Given the description of an element on the screen output the (x, y) to click on. 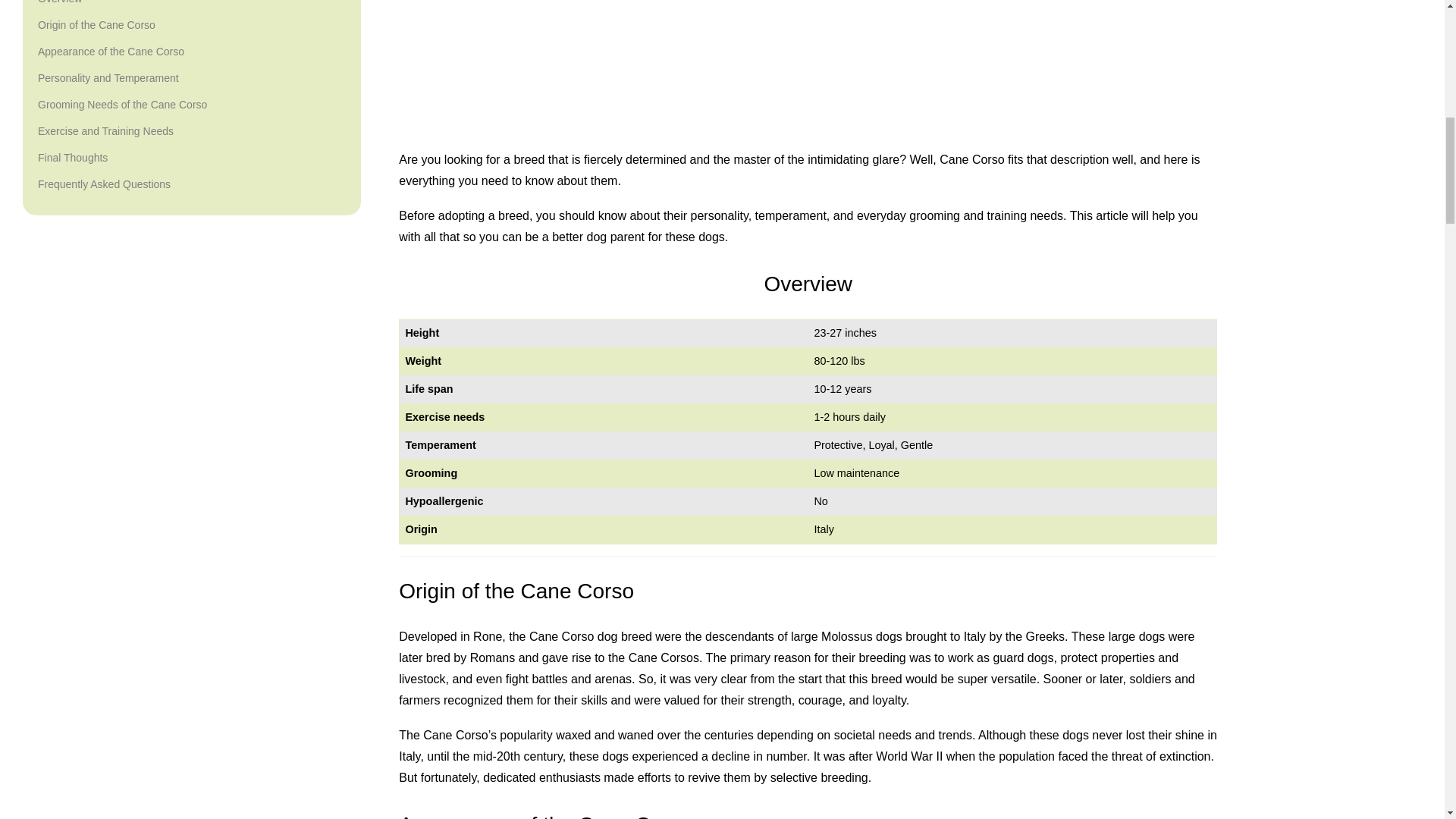
Appearance of the Cane Corso (110, 51)
Frequently Asked Questions (103, 183)
Exercise and Training Needs (105, 130)
Final Thoughts (72, 157)
Overview (59, 4)
Advertisement (807, 67)
Grooming Needs of the Cane Corso (121, 104)
Origin of the Cane Corso (96, 25)
Personality and Temperament (108, 77)
